Given the description of an element on the screen output the (x, y) to click on. 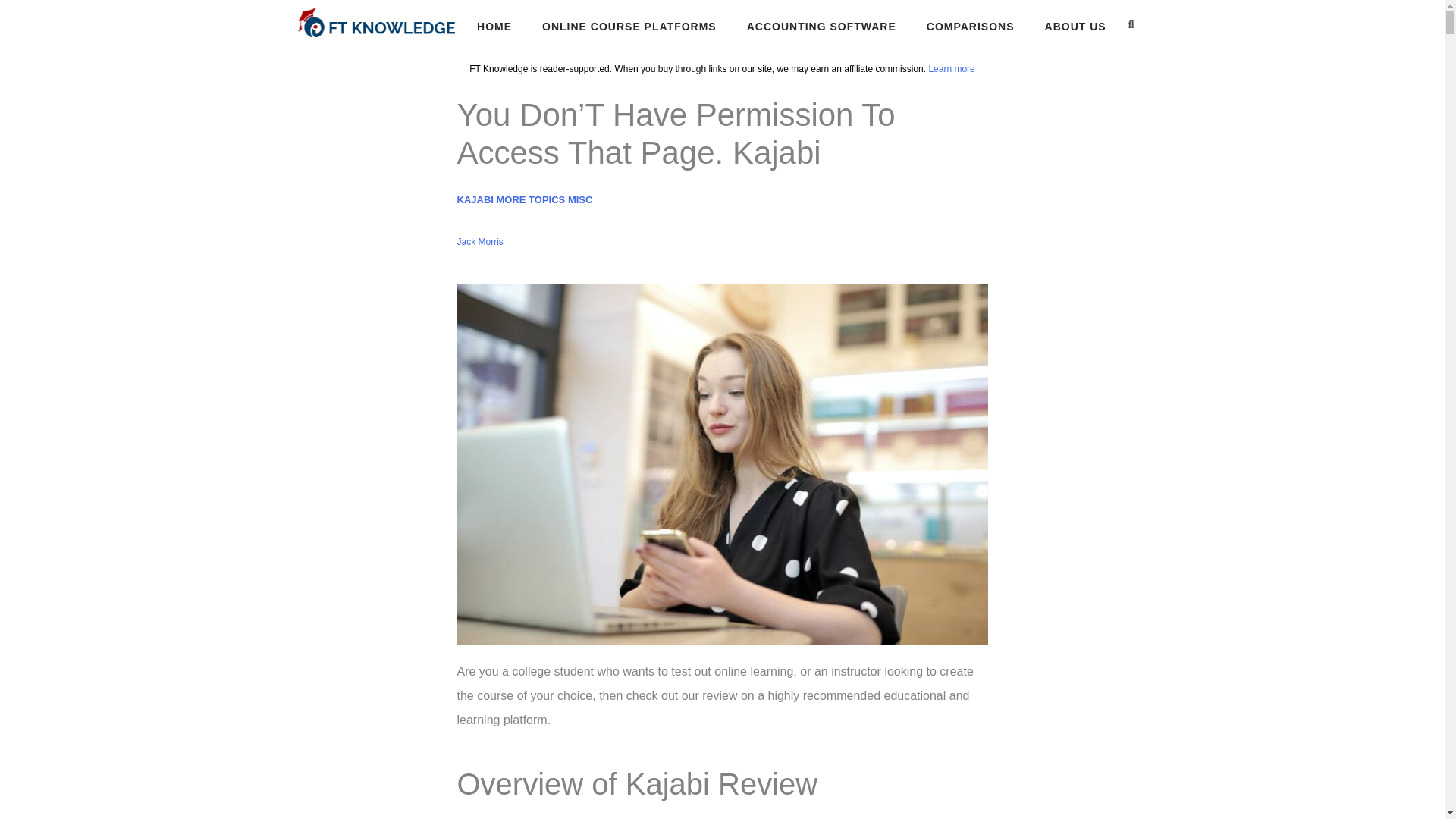
Jack Morris (479, 241)
COMPARISONS (970, 26)
Learn more (951, 68)
ONLINE COURSE PLATFORMS (628, 26)
KAJABI MORE TOPICS MISC (524, 199)
ABOUT US (1075, 26)
ACCOUNTING SOFTWARE (821, 26)
HOME (494, 26)
